Given the description of an element on the screen output the (x, y) to click on. 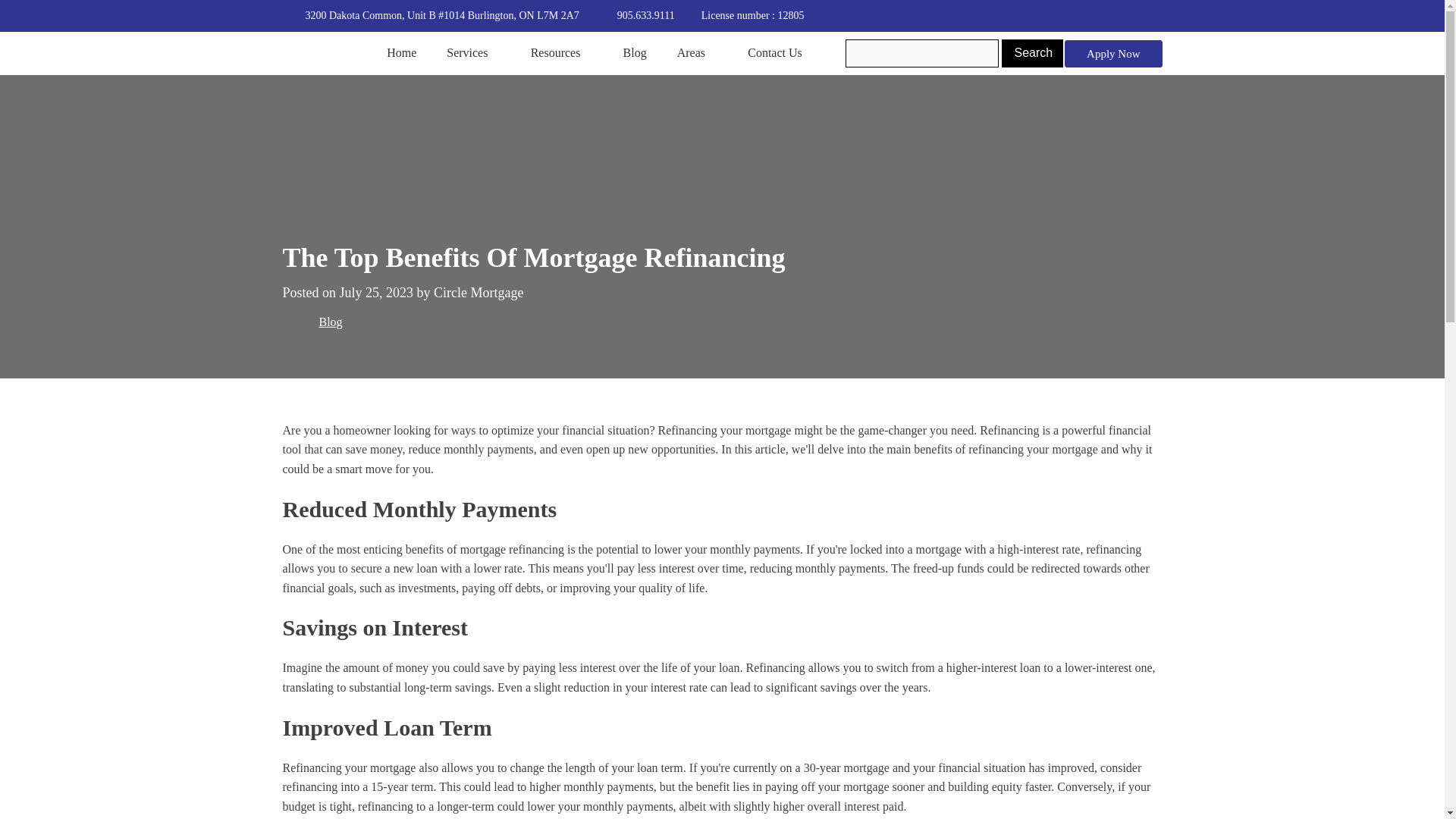
Search (1031, 52)
Services (472, 53)
Areas (697, 53)
Search (1031, 52)
905.633.9111 (646, 15)
Resources (561, 53)
License number : 12805 (740, 15)
Apply Now (1112, 53)
Home (401, 53)
Contact Us (775, 53)
